Given the description of an element on the screen output the (x, y) to click on. 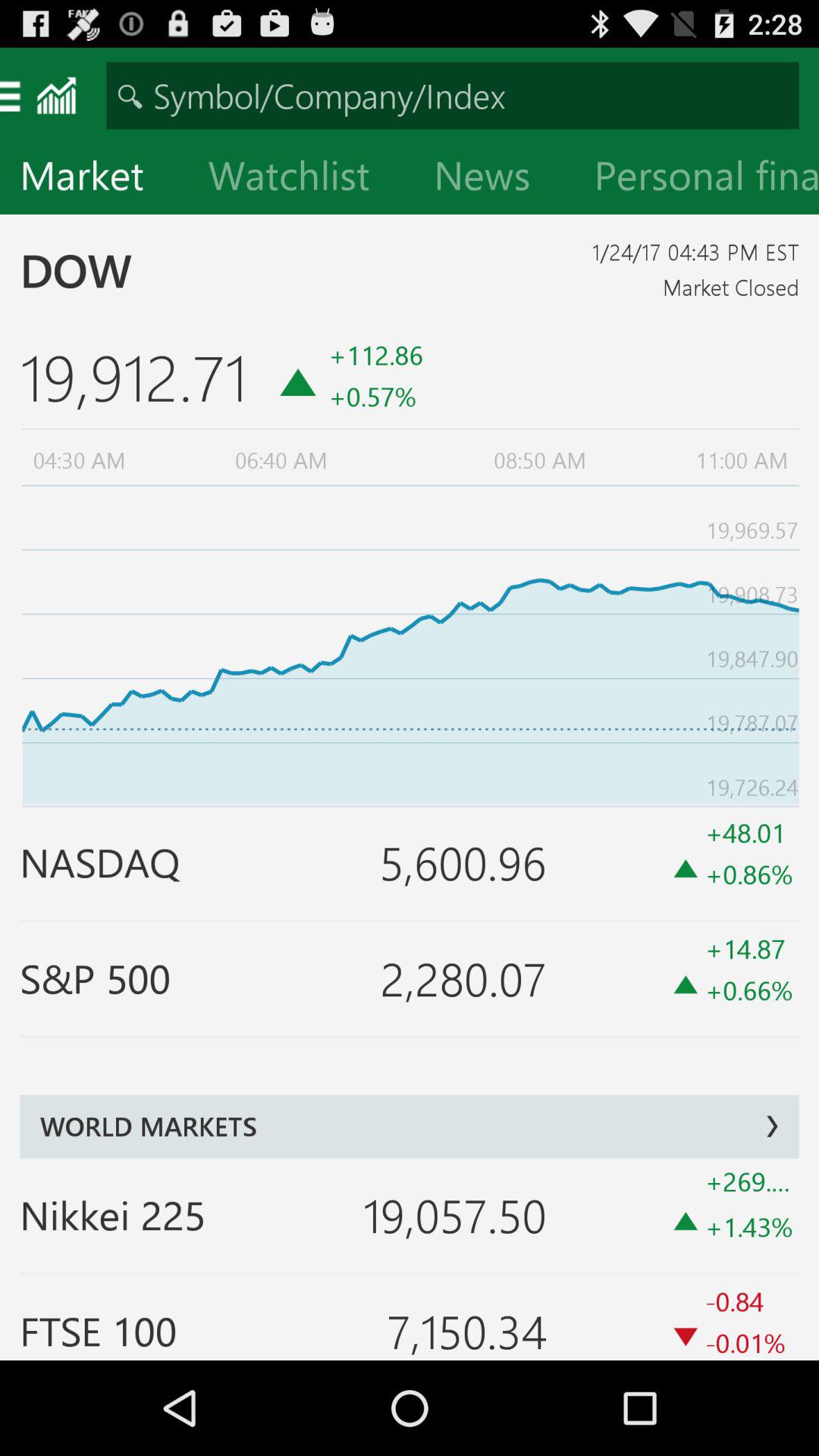
enter symbol or company name (452, 95)
